Given the description of an element on the screen output the (x, y) to click on. 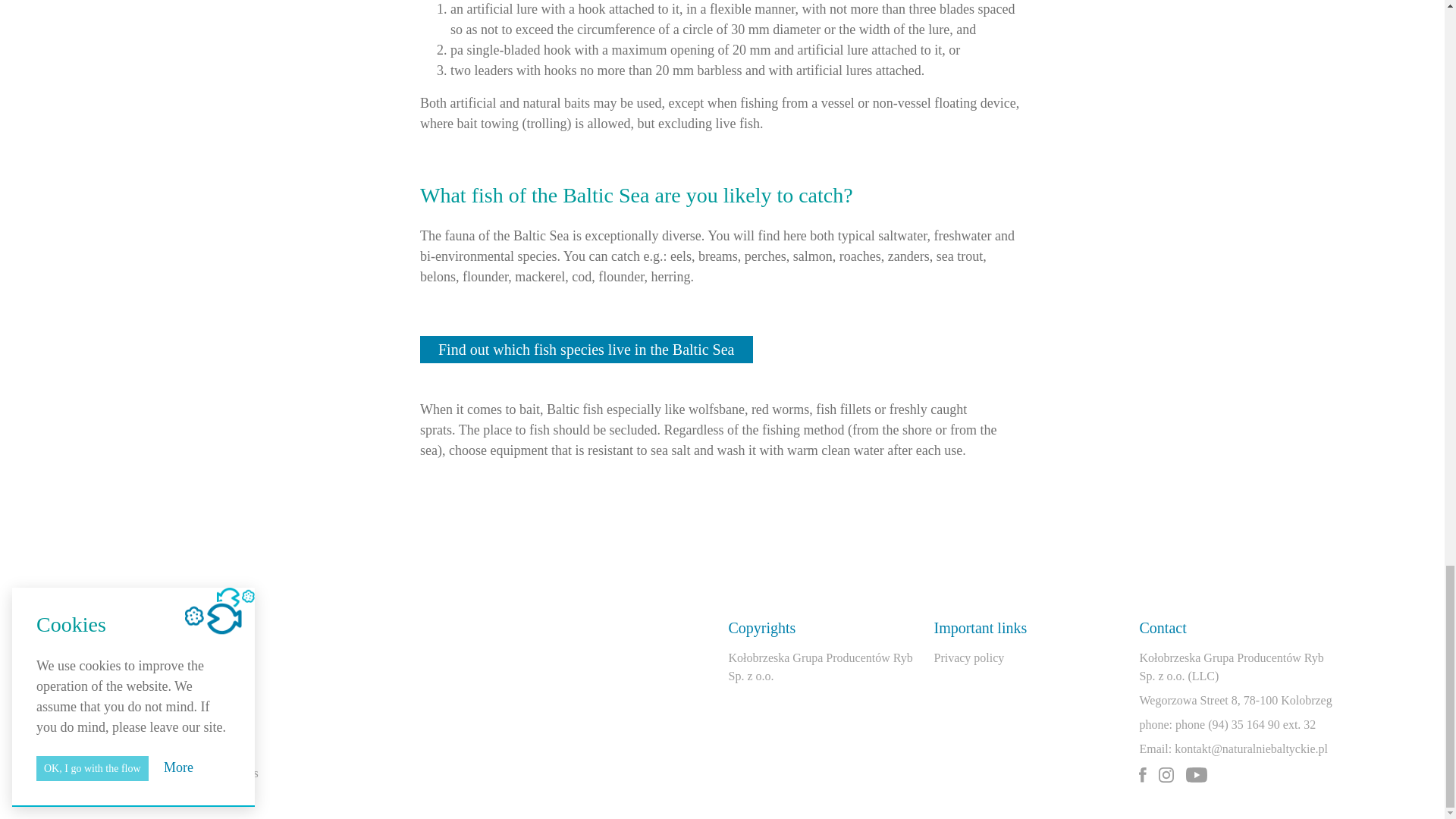
Mobile Madness (218, 772)
Privacy policy (968, 657)
Find out which fish species live in the Baltic Sea (586, 349)
Konceptlab (140, 772)
